Given the description of an element on the screen output the (x, y) to click on. 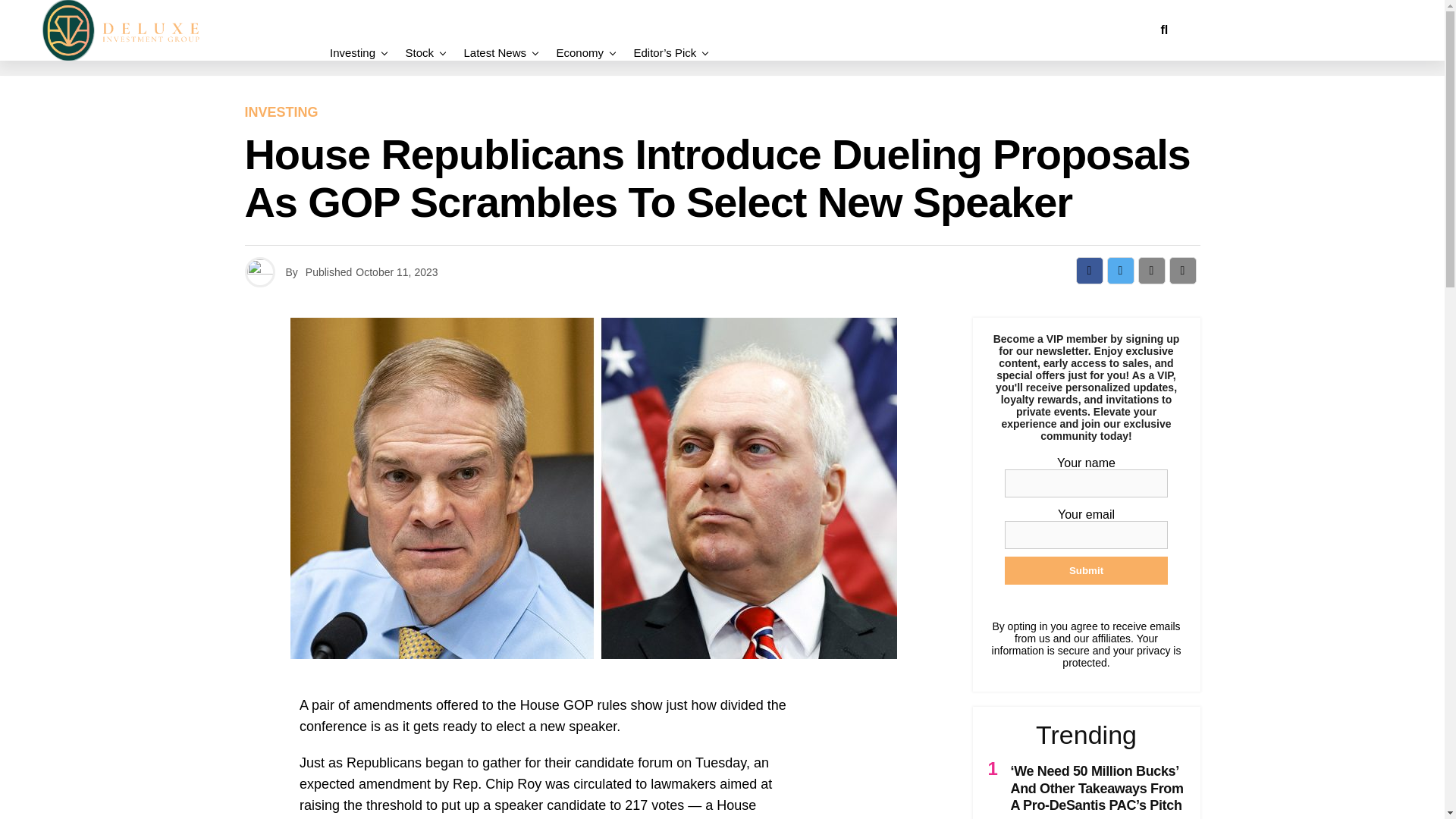
Investing (356, 52)
Submit (1085, 570)
Tweet This Post (1120, 270)
Share on Facebook (1088, 270)
INVESTING (280, 112)
Economy (579, 52)
Latest News (494, 52)
